Given the description of an element on the screen output the (x, y) to click on. 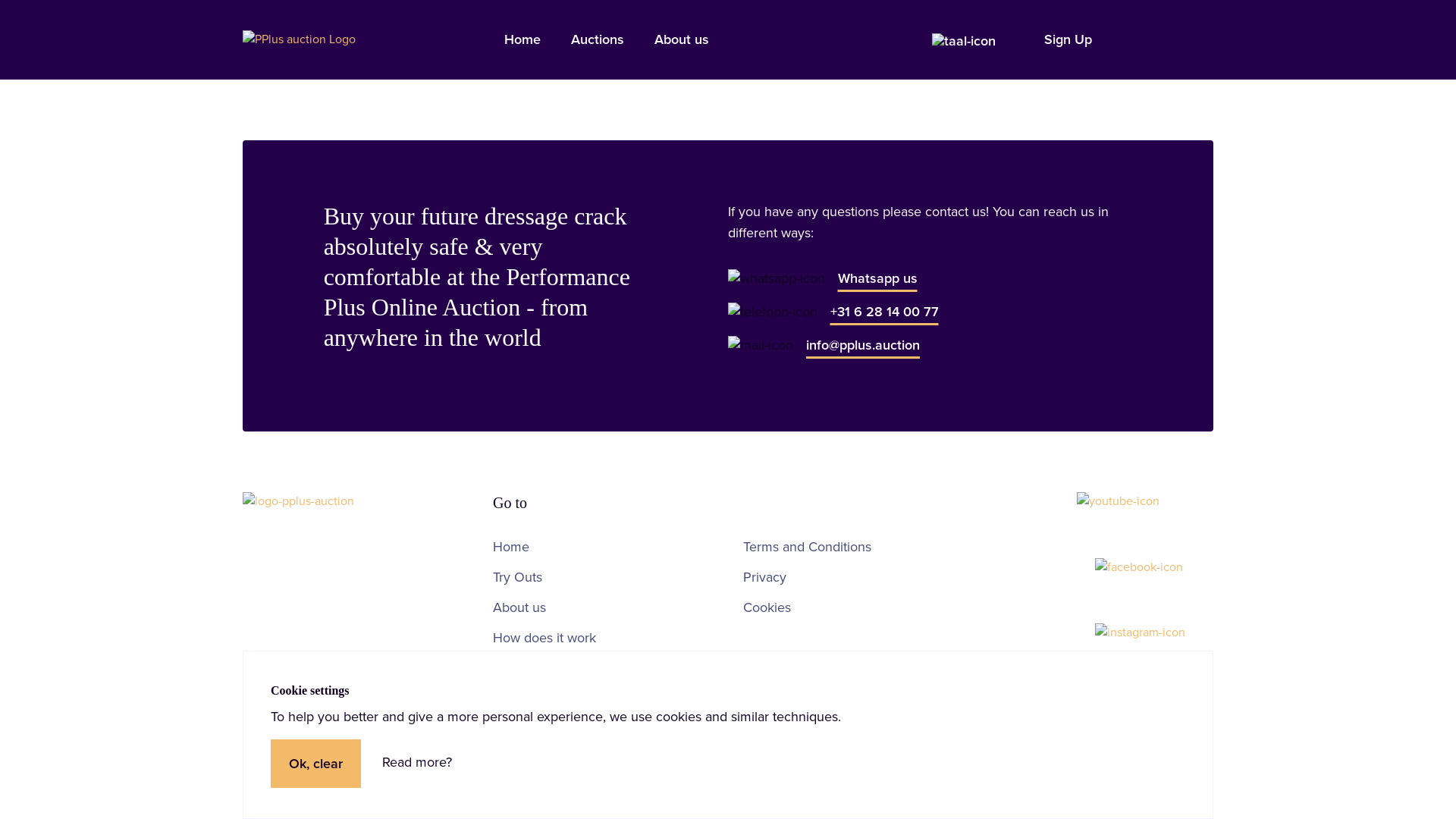
Naar homepagina Element type: hover (298, 39)
+31 6 28 14 00 77 Element type: text (884, 311)
logo-pplus-auction Element type: hover (352, 501)
Contact Element type: text (515, 667)
Whatsapp us Element type: text (877, 277)
Niice credential text Element type: hover (1189, 736)
Try Outs Element type: text (517, 576)
telefoon-icon Element type: hover (772, 311)
Terms and Conditions Element type: text (807, 546)
youtube-icon Element type: hover (1117, 501)
Cookies Element type: text (766, 607)
facebook-icon Element type: hover (1139, 567)
About us Element type: text (519, 607)
instagram-icon Element type: hover (1140, 632)
mail-icon Element type: hover (760, 344)
Read more? Element type: text (416, 761)
Home Element type: text (510, 546)
info@pplus.auction Element type: text (862, 344)
Privacy Element type: text (764, 576)
How does it work Element type: text (544, 637)
whatsapp-icon Element type: hover (776, 278)
taal-icon Element type: hover (963, 40)
Niice credential logo Element type: hover (1152, 728)
